Given the description of an element on the screen output the (x, y) to click on. 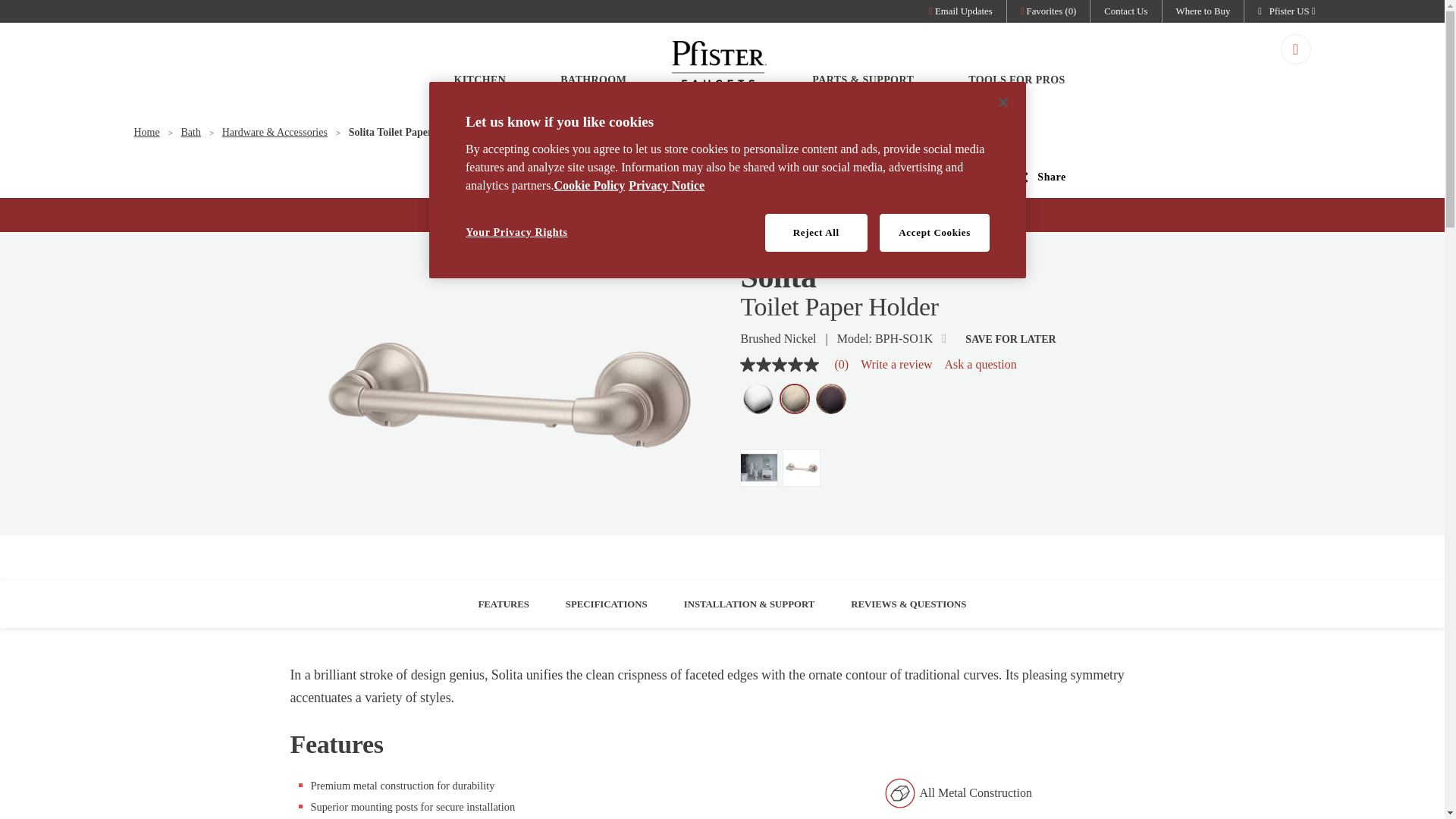
BATHROOM (592, 63)
KITCHEN (479, 63)
